Given the description of an element on the screen output the (x, y) to click on. 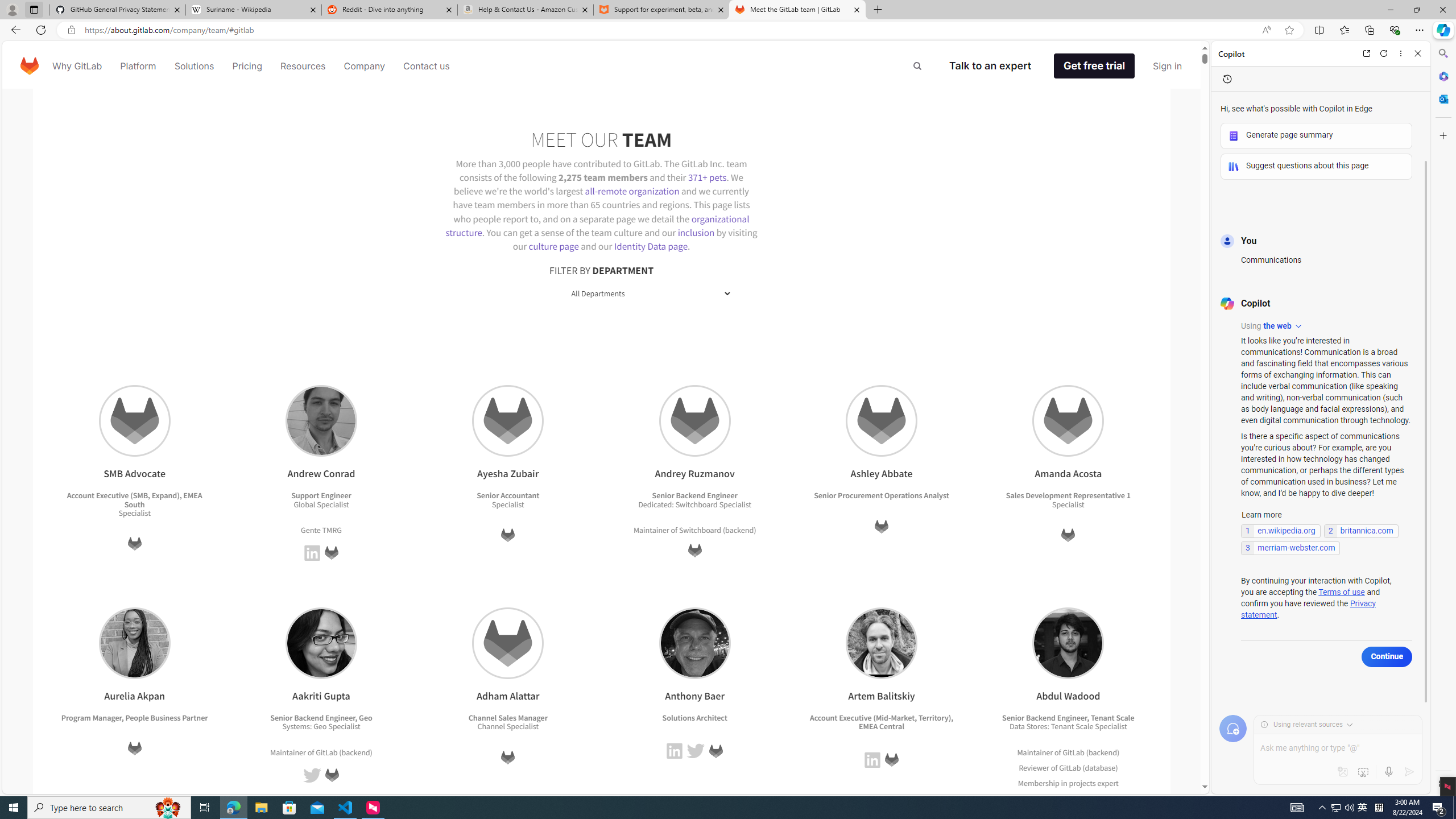
Senior Backend Engineer, Geo (321, 717)
GitLab home page (29, 65)
Maintainer of GitLab (backend) (1067, 752)
Andrew Conrad (320, 420)
Andrey Ruzmanov (695, 420)
Program Manager, People Business Partner (134, 717)
Why GitLab (77, 65)
Reviewer of GitLab (database) (1067, 767)
Aakriti Gupta (320, 642)
Ayesha Zubair (507, 420)
Account Executive (SMB, Expand), EMEA South (134, 499)
organizational structure (597, 225)
